Given the description of an element on the screen output the (x, y) to click on. 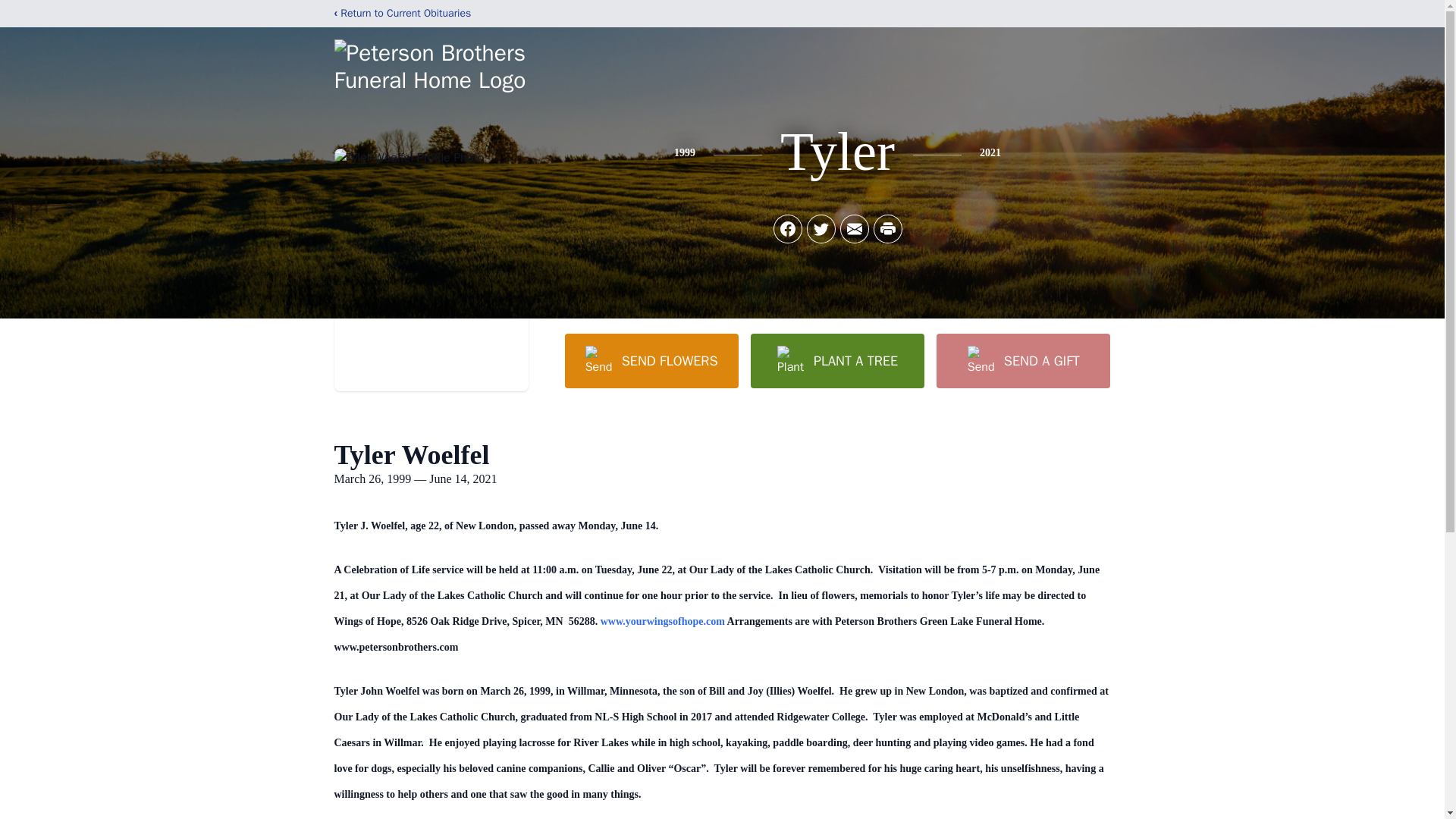
SEND A GIFT (1022, 360)
SEND FLOWERS (651, 360)
www.yourwingsofhope.com (662, 621)
PLANT A TREE (837, 360)
